Given the description of an element on the screen output the (x, y) to click on. 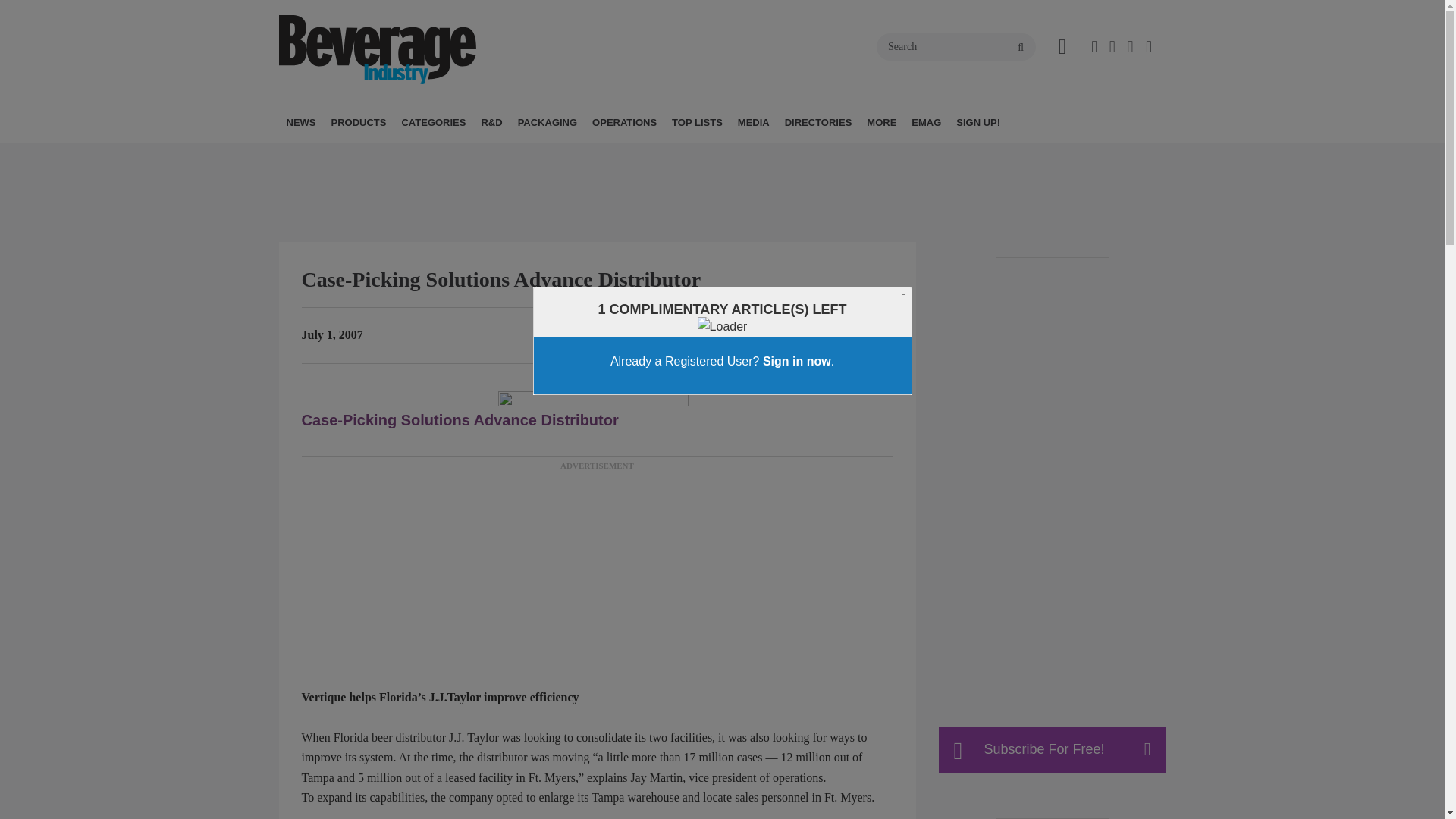
INDUSTRY NEWS (386, 155)
CARBONATED SOFT DRINKS (512, 155)
CANNABIS BEVERAGES (507, 155)
BOTTLED WATER (501, 155)
Search (955, 46)
PRODUCTS (358, 122)
PACKAGING EQUIPMENT (611, 155)
READER'S CHOICE POLL (424, 155)
TEA AND COFFEE (528, 155)
CATEGORIES (433, 122)
SUPPLIER NEWS (380, 155)
PACKAGING MATERIAL (605, 155)
BEER (496, 155)
ALTERNATIVE DRINKS (488, 155)
search (1020, 47)
